Given the description of an element on the screen output the (x, y) to click on. 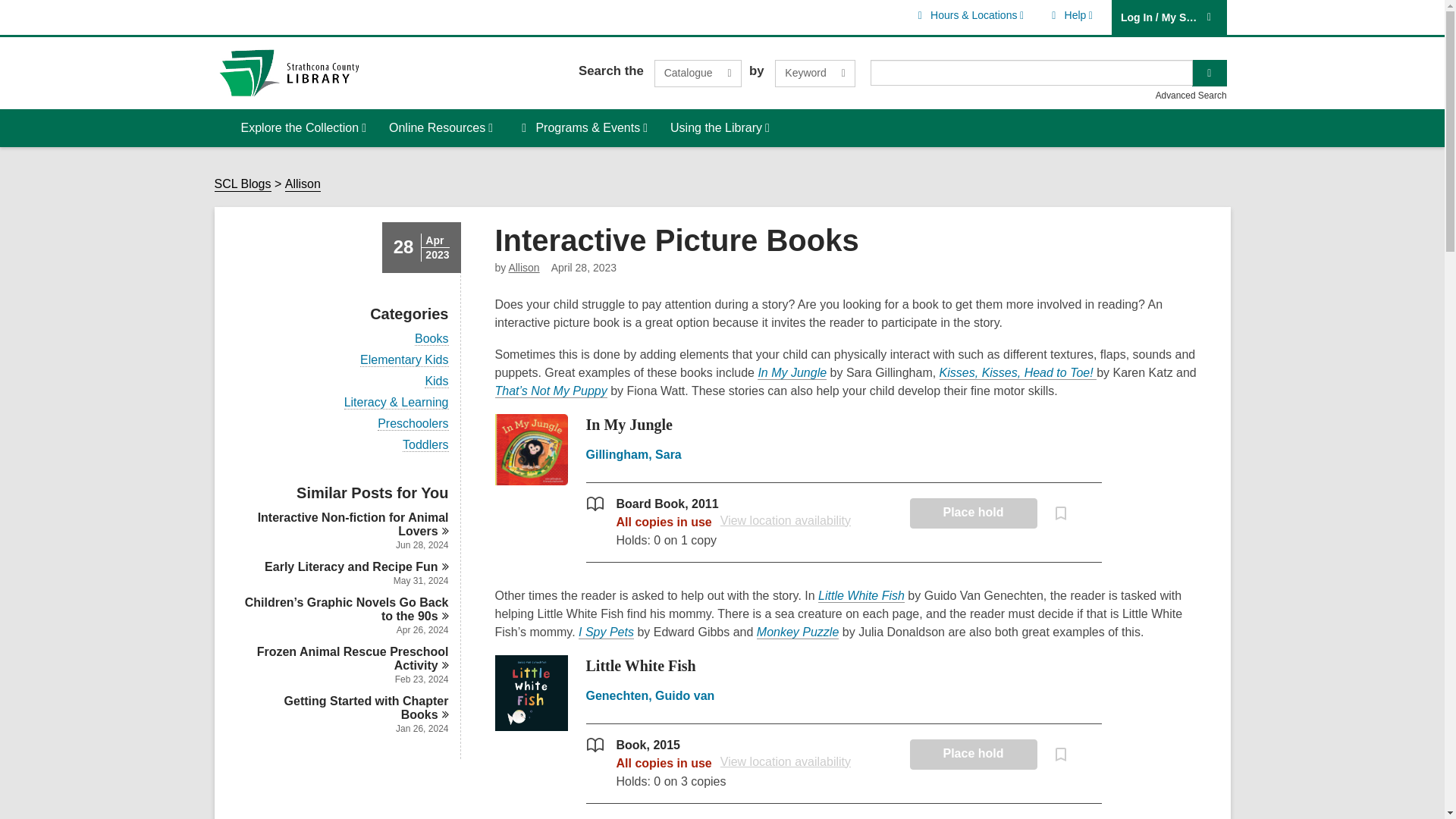
Keyword (697, 72)
Catalogue (815, 72)
